Given the description of an element on the screen output the (x, y) to click on. 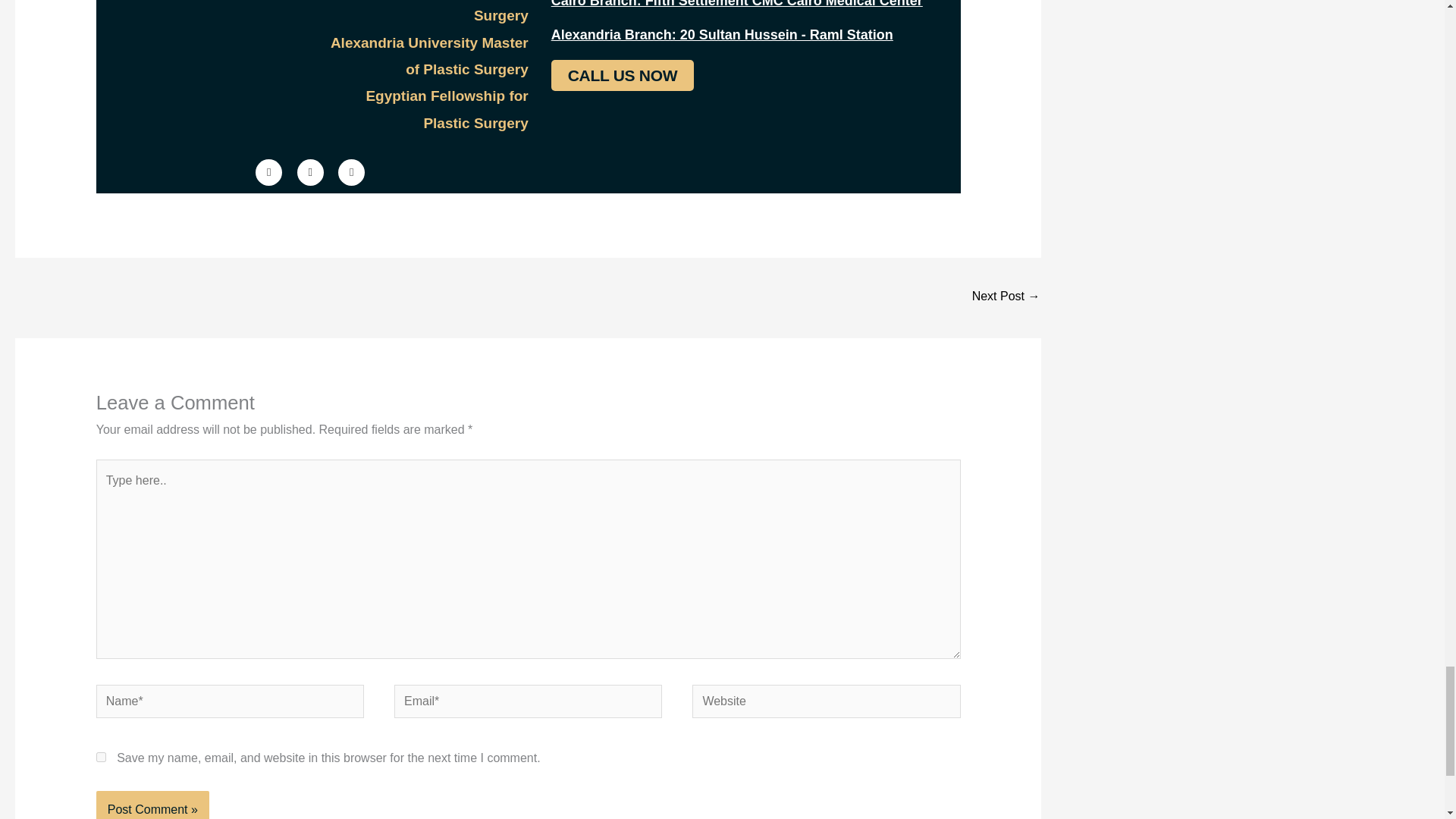
yes (101, 757)
Double chin liposuction (1006, 297)
